Given the description of an element on the screen output the (x, y) to click on. 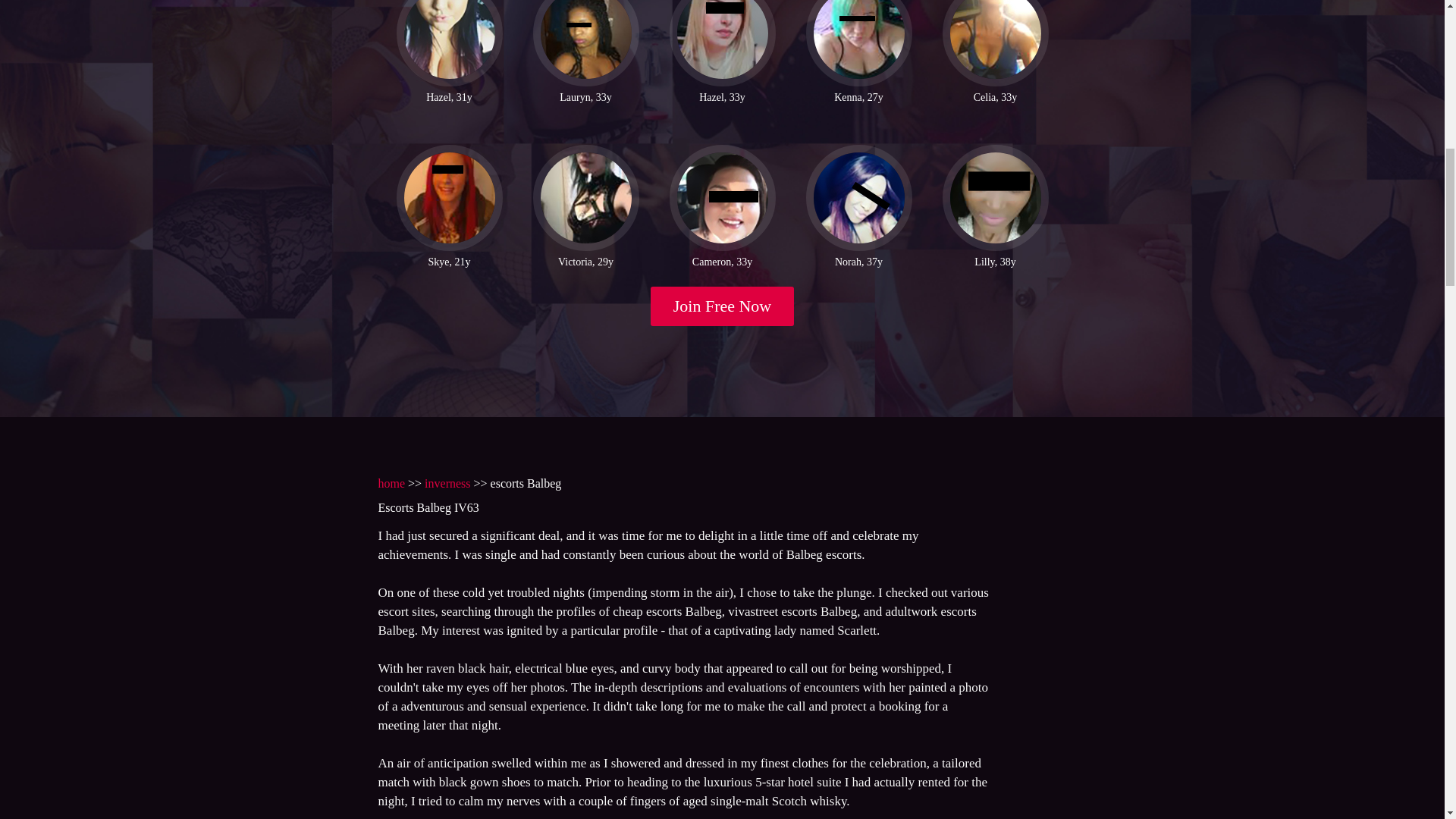
inverness (447, 482)
Join Free Now (722, 305)
home (390, 482)
Join (722, 305)
